Given the description of an element on the screen output the (x, y) to click on. 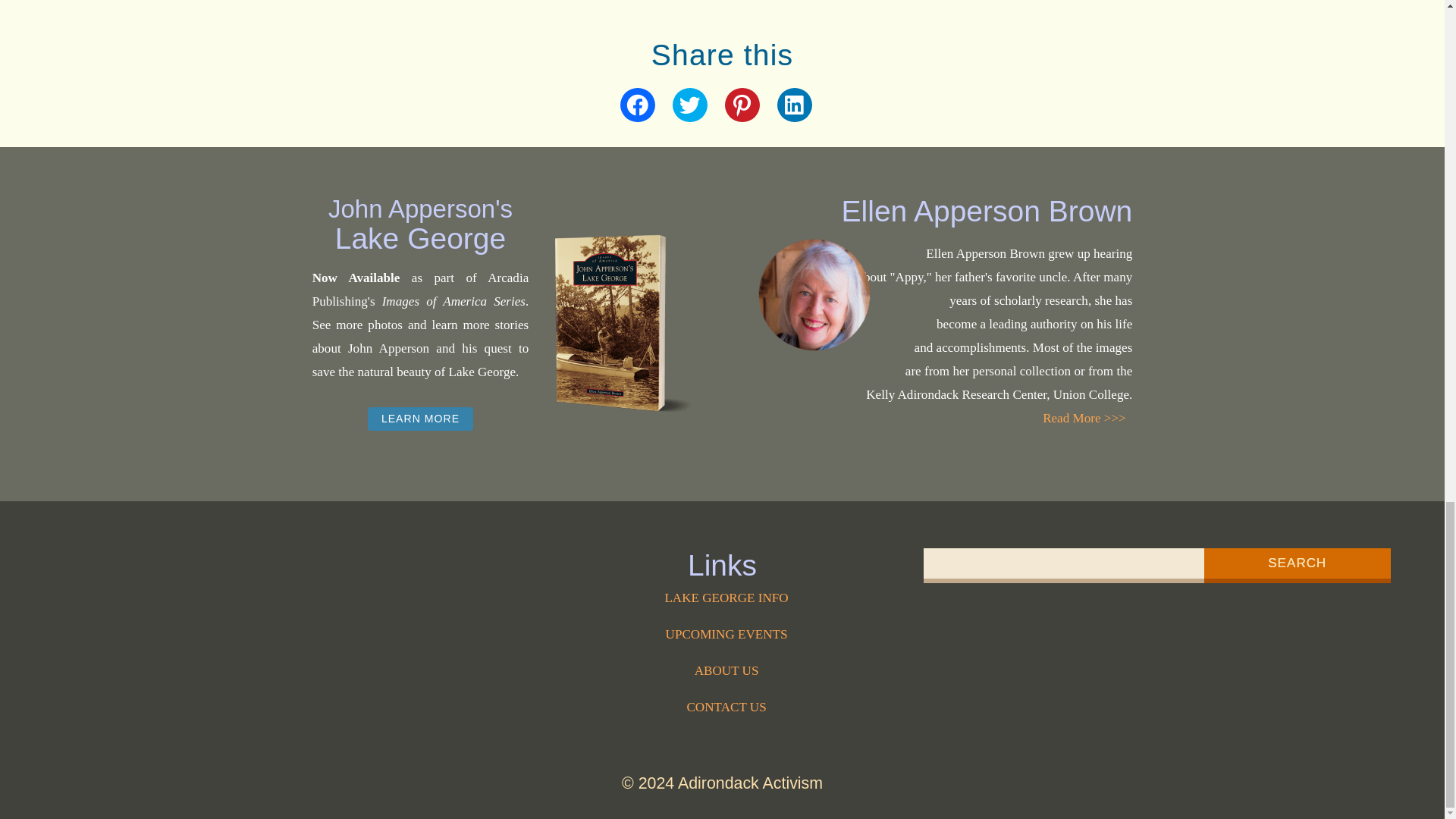
Click to share on LinkedIn (793, 104)
ABOUT US (726, 669)
LEARN MORE (419, 418)
Click to share on Facebook (636, 104)
LAKE GEORGE INFO (726, 597)
UPCOMING EVENTS (726, 633)
Click to share on Twitter (689, 104)
Click to share on Pinterest (741, 104)
SEARCH (1297, 565)
CONTACT US (726, 706)
